Given the description of an element on the screen output the (x, y) to click on. 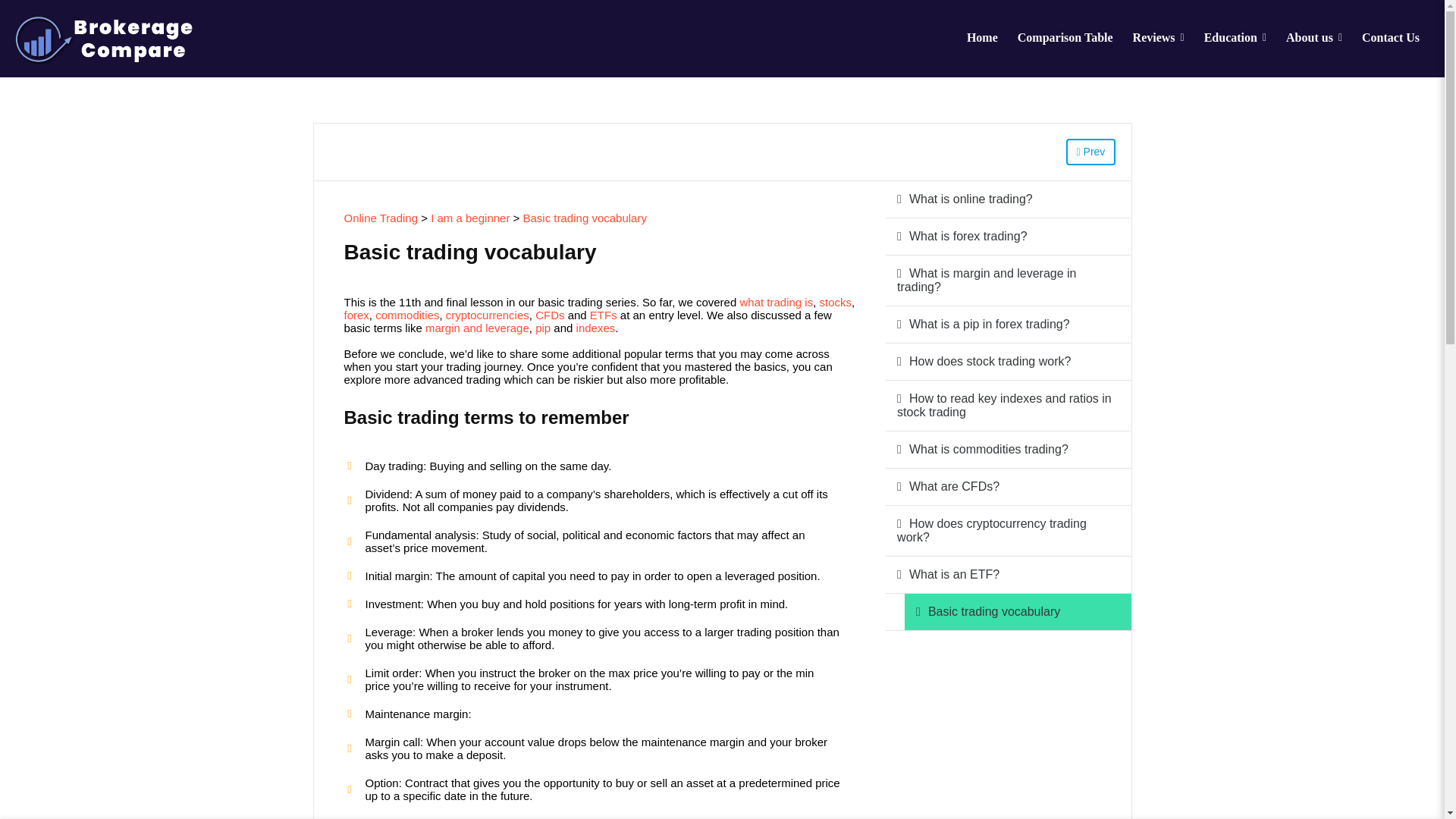
Reviews (1157, 38)
Prev (1090, 151)
Contact Us (1390, 38)
About us (1314, 38)
Comparison Table (1064, 38)
Education (1234, 38)
Home (981, 38)
